Given the description of an element on the screen output the (x, y) to click on. 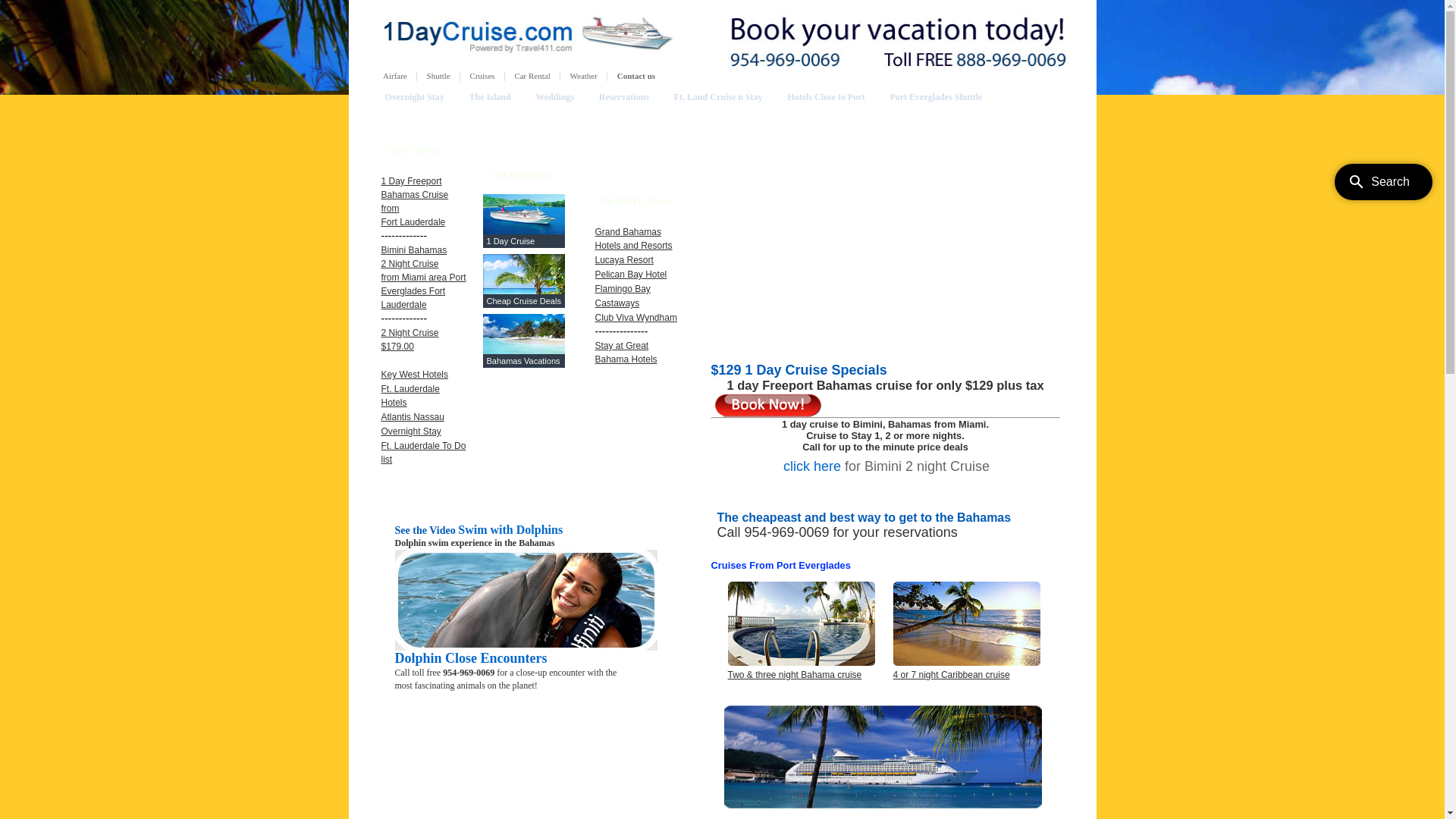
Cheap Cruise Deals Element type: text (523, 300)
The Island Element type: text (490, 96)
Flamingo Bay Element type: text (621, 288)
Club Viva Wyndham Element type: text (635, 317)
Pelican Bay Hotel Element type: text (630, 274)
Advertisement Element type: hover (888, 499)
4 or 7 night Caribbean cruise Element type: hover (966, 662)
Hotels Close to Port Element type: text (825, 96)
Atlantis Nassau Element type: text (411, 416)
Key West Hotels Element type: text (413, 374)
1 Day Cruise Element type: hover (723, 34)
Overnight Stay Element type: text (410, 431)
Dolphin Encounter - Swim with the Dolphins Element type: hover (525, 647)
Ft. Lauderdale Hotels Element type: text (409, 395)
4 or 7 night Caribbean cruise Element type: text (951, 674)
Swim with Dolphins Element type: text (510, 530)
Dolphin Encounter - Swim with the dolphins Element type: hover (525, 599)
Bahamas Vacations Element type: hover (523, 350)
Cheap Cruise Deals Element type: hover (523, 290)
Two and Three Night Bahama Cruise Element type: hover (801, 623)
Contact us Element type: text (636, 75)
Weather Element type: text (583, 75)
Dolphin swim experience in the Bahamas Element type: text (474, 542)
Lucaya Resort Element type: text (623, 259)
1 Day Cruise Element type: hover (523, 230)
Airfare Element type: text (394, 75)
Ft. Lauderdale To Do list Element type: text (422, 452)
Two and three night Bahama cruise Element type: hover (801, 662)
Stay at Great Bahama Hotels Element type: text (625, 352)
1 Day Cruise Element type: text (510, 240)
Shuttle Element type: text (438, 75)
Weddings Element type: text (554, 96)
Cruises Element type: text (482, 75)
1 Day Freeport Bahamas Cruise from
Fort Lauderdale Element type: text (414, 201)
Two & three night Bahama cruise Element type: text (795, 674)
Discover Island Cruises Element type: hover (882, 757)
Car Rental Element type: text (531, 75)
Port Everglades Shuttle Element type: text (935, 96)
Ft. Laud Cruise n Stay Element type: text (718, 96)
Dolphin Close Encounters Element type: text (470, 657)
4 or 7 night Caribbean cruise Element type: hover (966, 623)
Castaways Element type: text (616, 303)
Bahamas Vacations Element type: text (523, 360)
2 Night Cruise $179.00 Element type: text (409, 339)
Overnight Stay Element type: text (414, 96)
click here Element type: text (811, 465)
Grand Bahamas Hotels and Resorts Element type: text (632, 238)
Reservations Element type: text (624, 96)
